Given the description of an element on the screen output the (x, y) to click on. 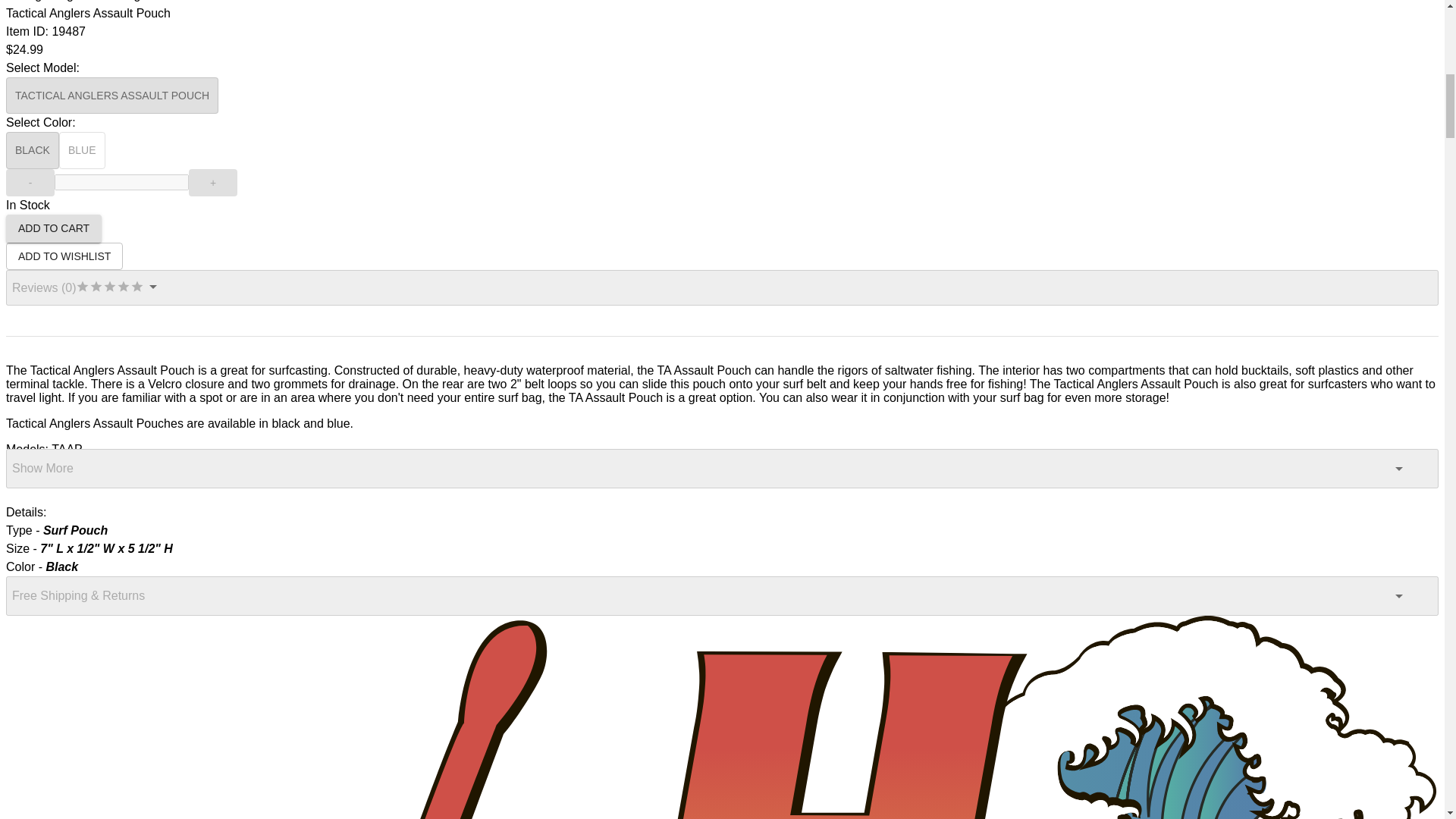
BLUE (81, 149)
BLACK (32, 149)
ADD TO CART (53, 228)
- (30, 182)
TACTICAL ANGLERS ASSAULT POUCH (111, 95)
ADD TO WISHLIST (63, 256)
